Given the description of an element on the screen output the (x, y) to click on. 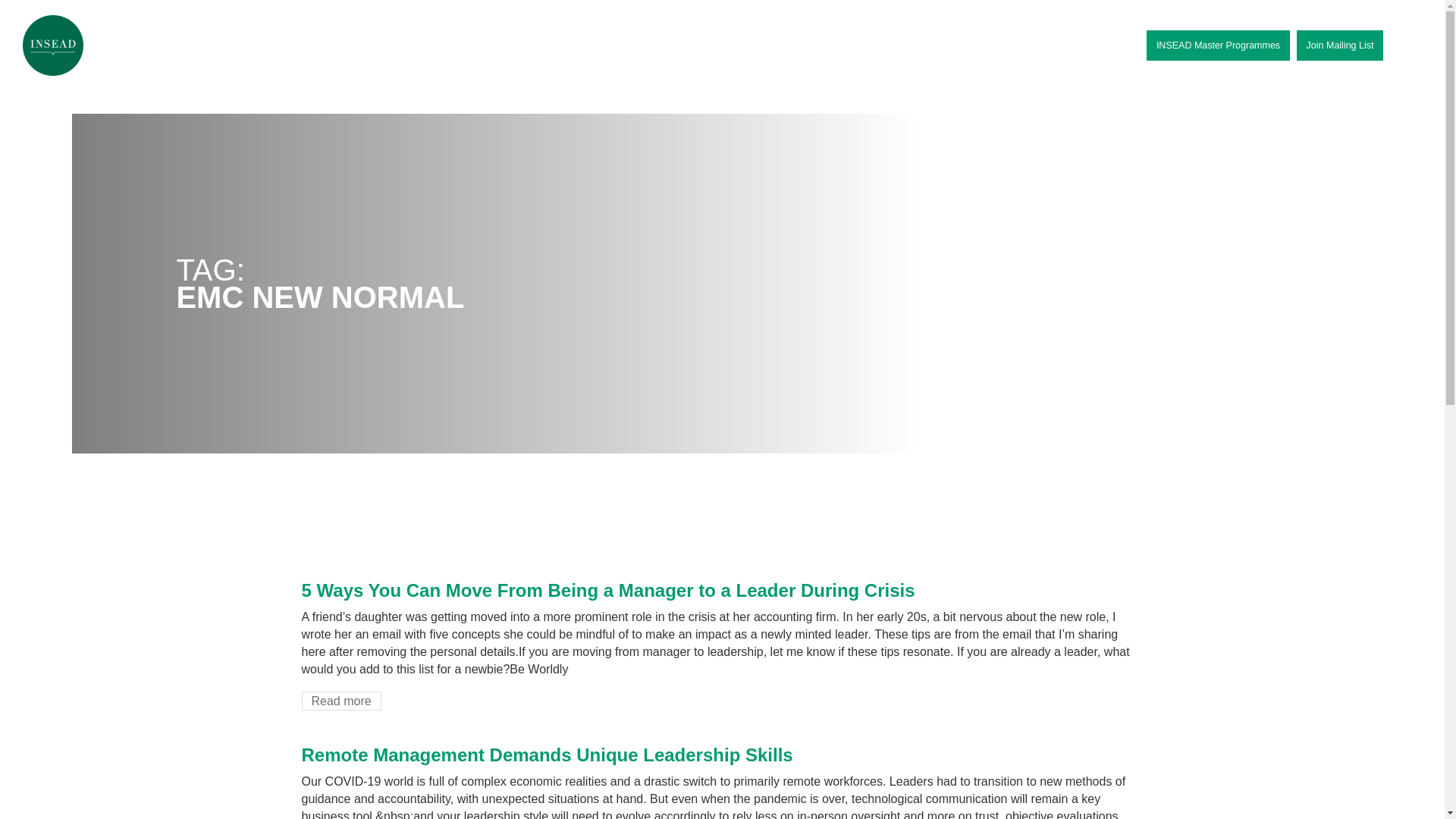
YOUNG PROFESSIONALS (263, 45)
INSEAD Master Programmes (1217, 45)
LIMITLESS (148, 45)
INSEAD (52, 45)
Remote Management Demands Unique Leadership Skills (547, 754)
VIEWPOINTS (694, 45)
SENIOR EXECUTIVES (583, 45)
